Given the description of an element on the screen output the (x, y) to click on. 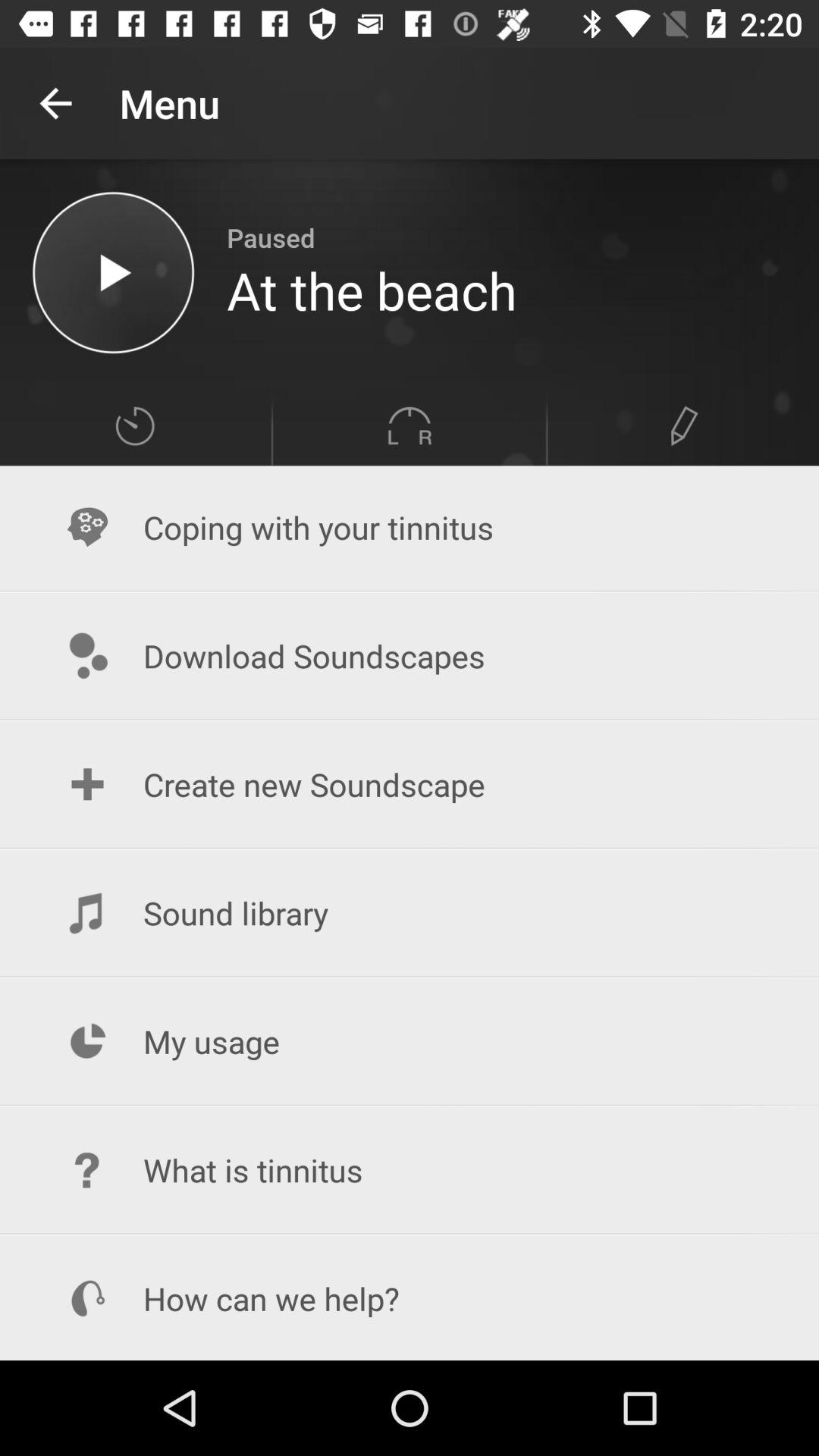
choose item above the sound library (409, 784)
